Given the description of an element on the screen output the (x, y) to click on. 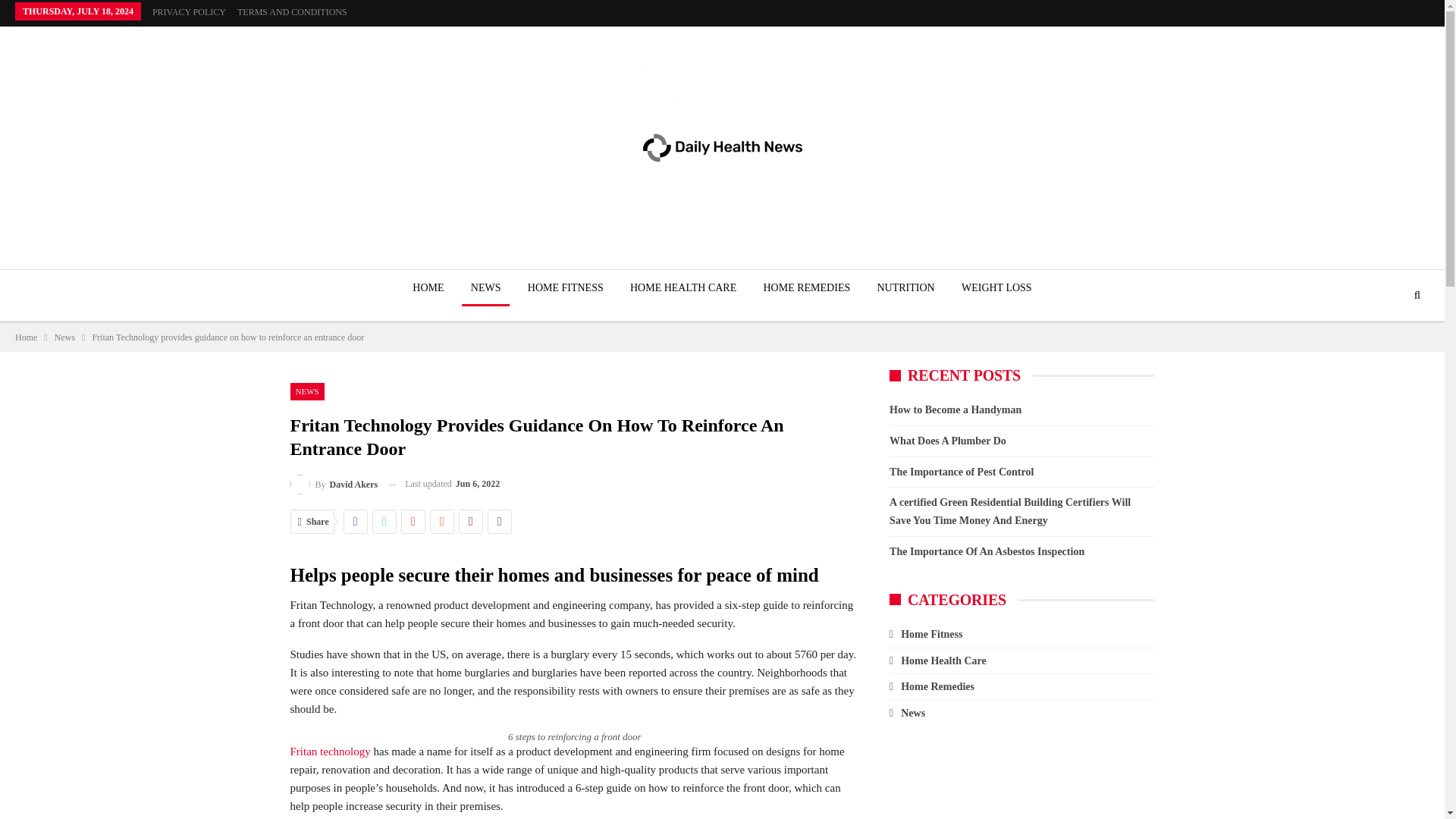
Fritan technology (329, 751)
Browse Author Articles (333, 484)
News (65, 337)
HOME (427, 288)
WEIGHT LOSS (996, 288)
NEWS (486, 288)
Home (25, 337)
NUTRITION (905, 288)
TERMS AND CONDITIONS (292, 11)
By David Akers (333, 484)
HOME HEALTH CARE (683, 288)
HOME REMEDIES (806, 288)
PRIVACY POLICY (188, 11)
NEWS (306, 391)
HOME FITNESS (565, 288)
